Given the description of an element on the screen output the (x, y) to click on. 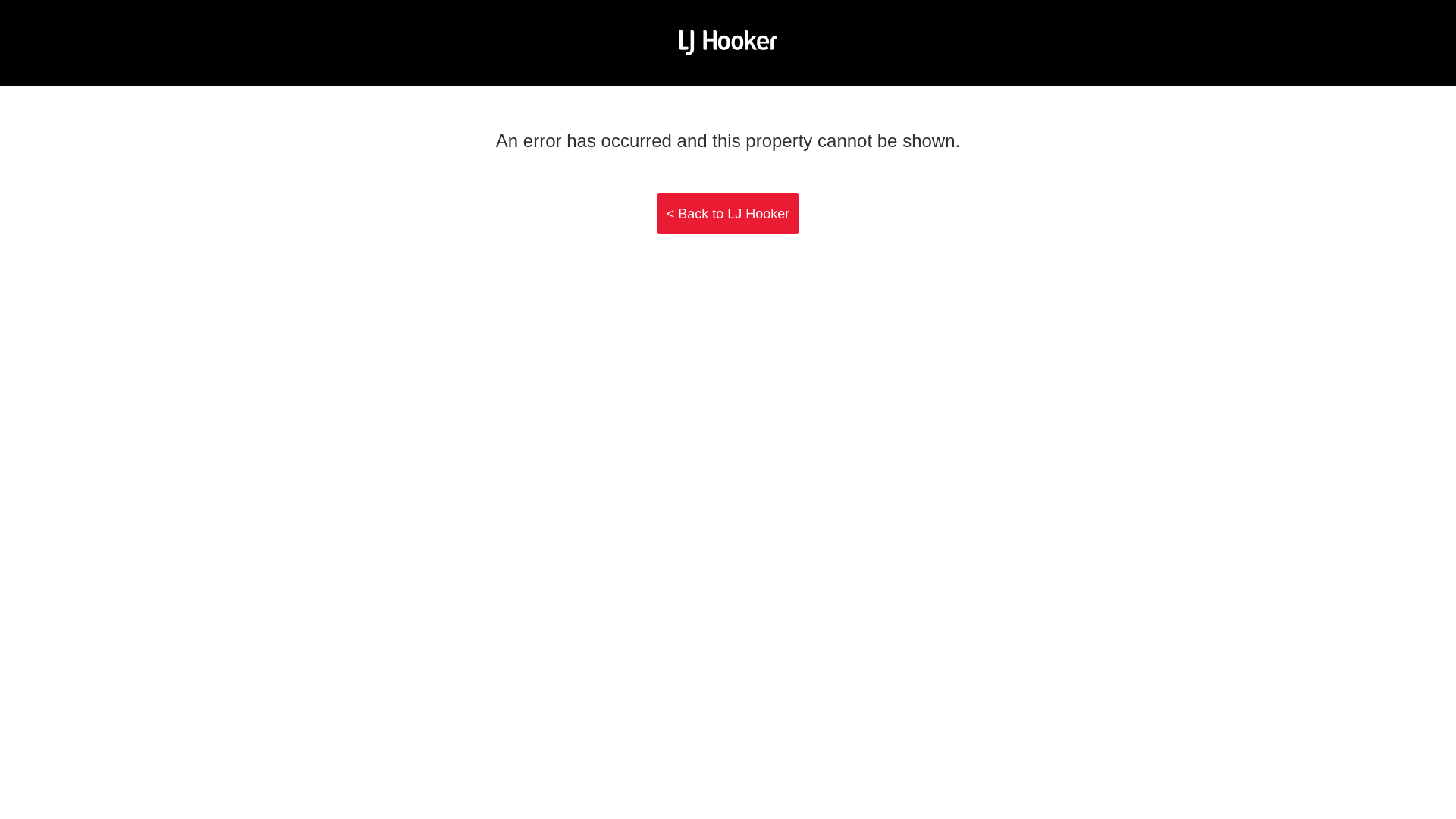
< Back to LJ Hooker Element type: text (728, 213)
